Given the description of an element on the screen output the (x, y) to click on. 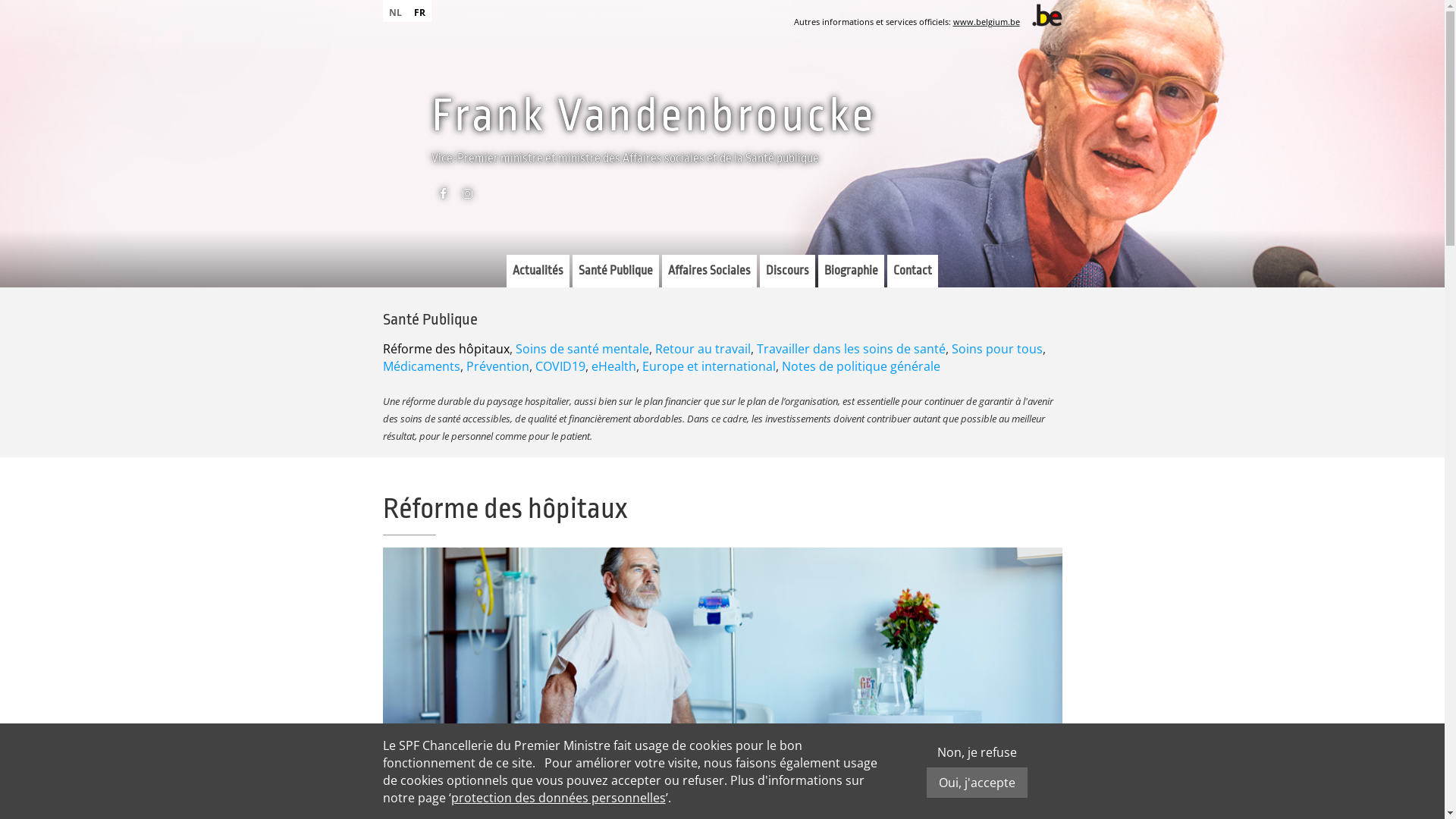
facebook Element type: text (442, 197)
www.belgium.be Element type: text (985, 21)
instagram Element type: text (467, 197)
Contact Element type: text (912, 271)
Oui, j'accepte Element type: text (976, 782)
Non, je refuse Element type: text (977, 752)
Frank Vandenbroucke Element type: text (652, 115)
Europe et international Element type: text (708, 365)
NL Element type: text (394, 11)
Soins pour tous Element type: text (995, 348)
FR Element type: text (419, 11)
Retour au travail Element type: text (702, 348)
Aller au contenu principal Element type: text (73, 0)
Affaires Sociales Element type: text (709, 271)
Discours Element type: text (787, 271)
eHealth Element type: text (613, 365)
COVID19 Element type: text (560, 365)
Biographie Element type: text (851, 271)
